Given the description of an element on the screen output the (x, y) to click on. 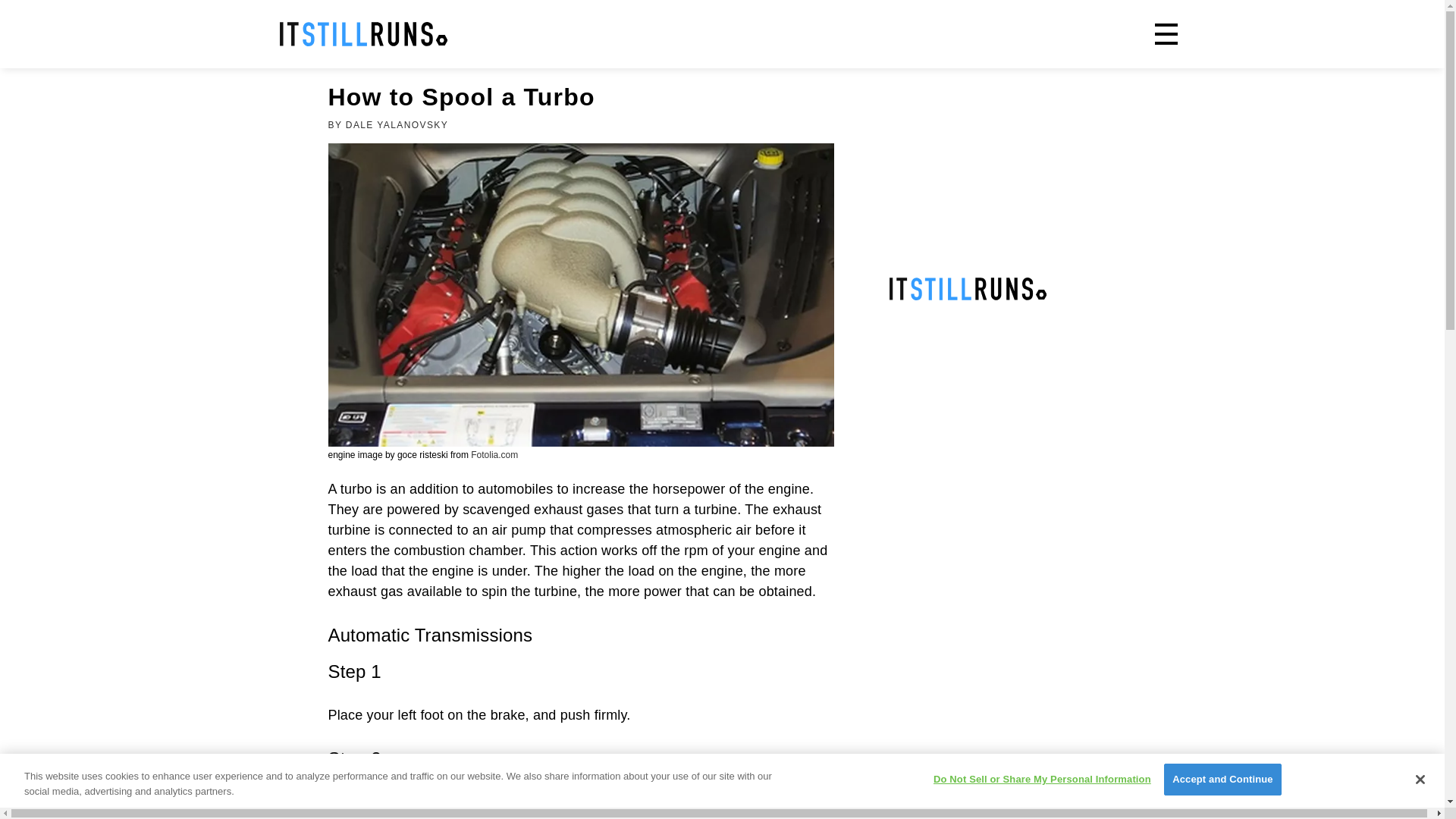
3rd party ad content (1002, 410)
the gas pedal (517, 801)
3rd party ad content (1002, 170)
3rd party ad content (807, 33)
Fotolia.com (494, 454)
